Given the description of an element on the screen output the (x, y) to click on. 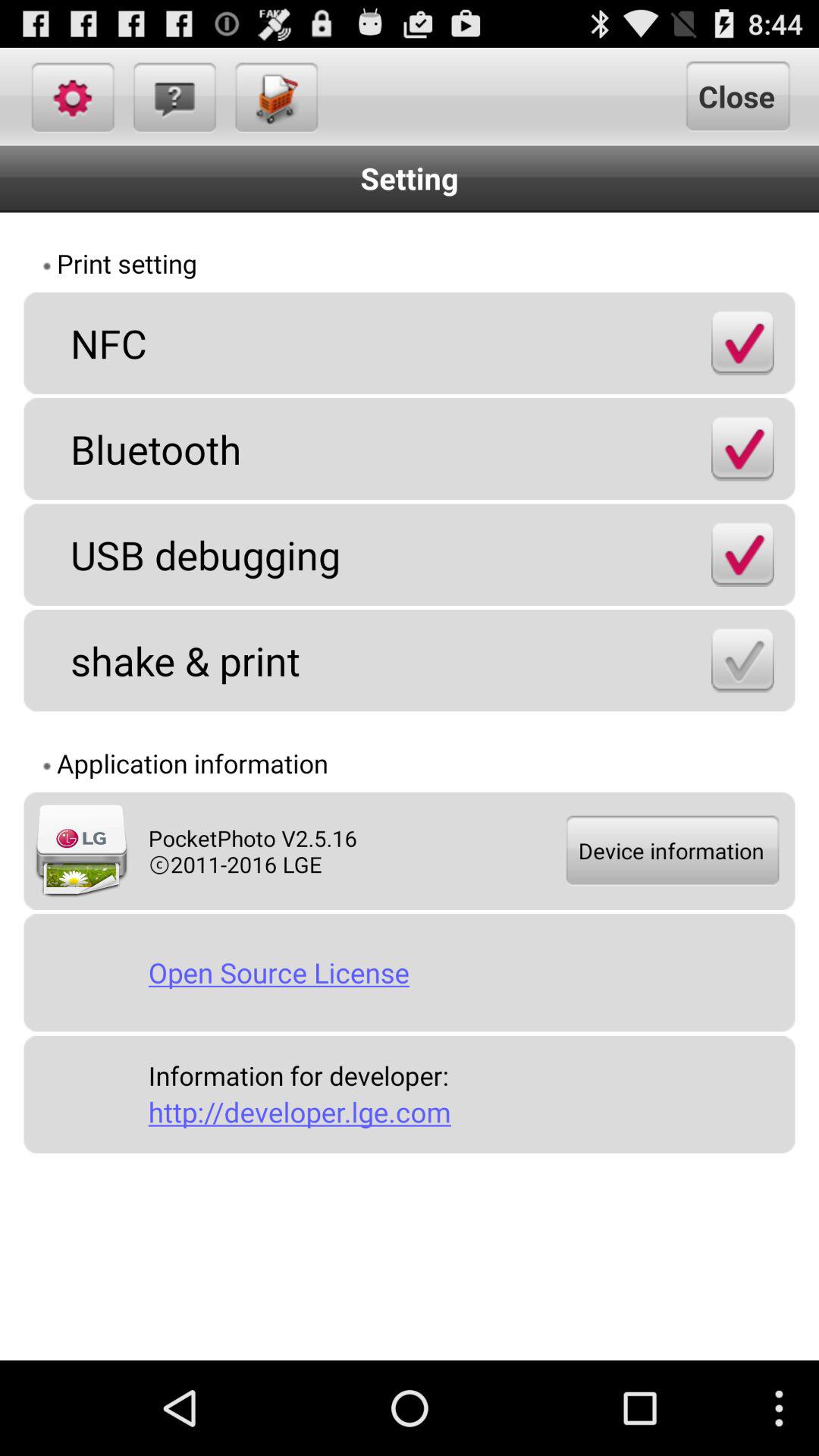
turn off app next to the print setting (695, 265)
